Given the description of an element on the screen output the (x, y) to click on. 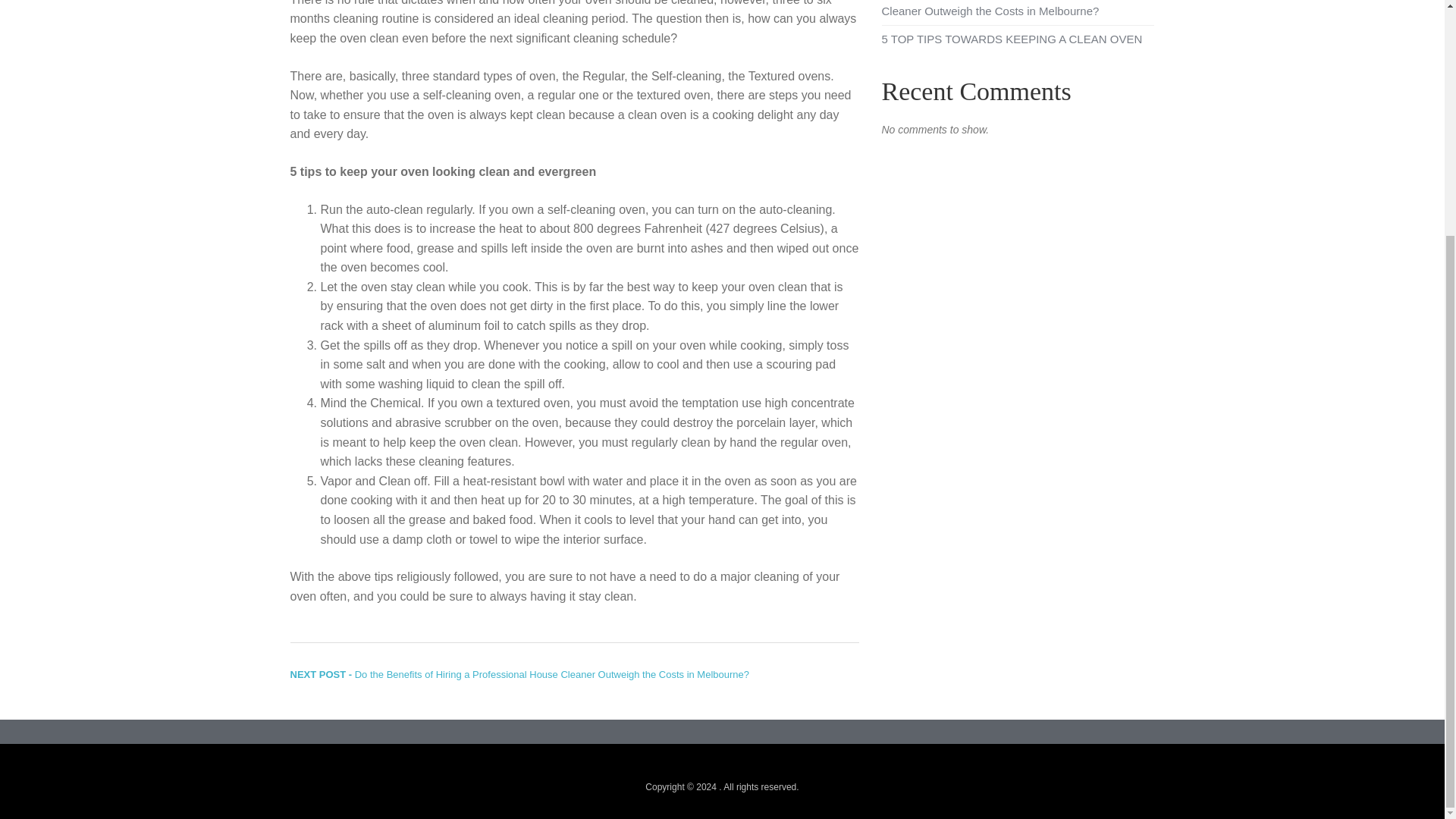
5 TOP TIPS TOWARDS KEEPING A CLEAN OVEN (1010, 38)
